Given the description of an element on the screen output the (x, y) to click on. 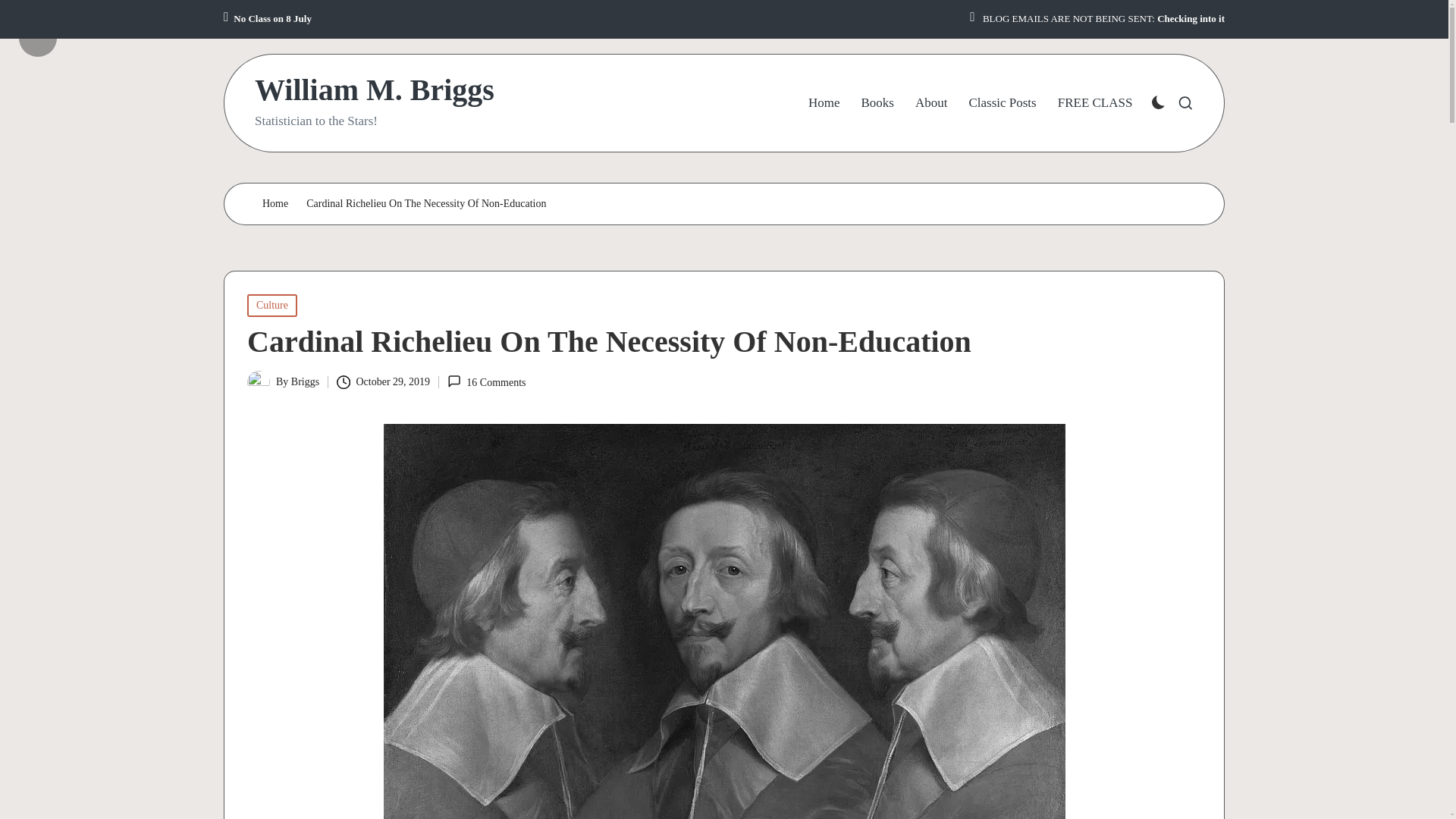
William M. Briggs (374, 90)
Home (275, 203)
Books (876, 103)
The post author (56, 25)
About (931, 103)
View all posts by Briggs (304, 381)
Briggs (304, 381)
FREE CLASS (1095, 103)
Checking into it (1190, 18)
Culture (272, 305)
